Given the description of an element on the screen output the (x, y) to click on. 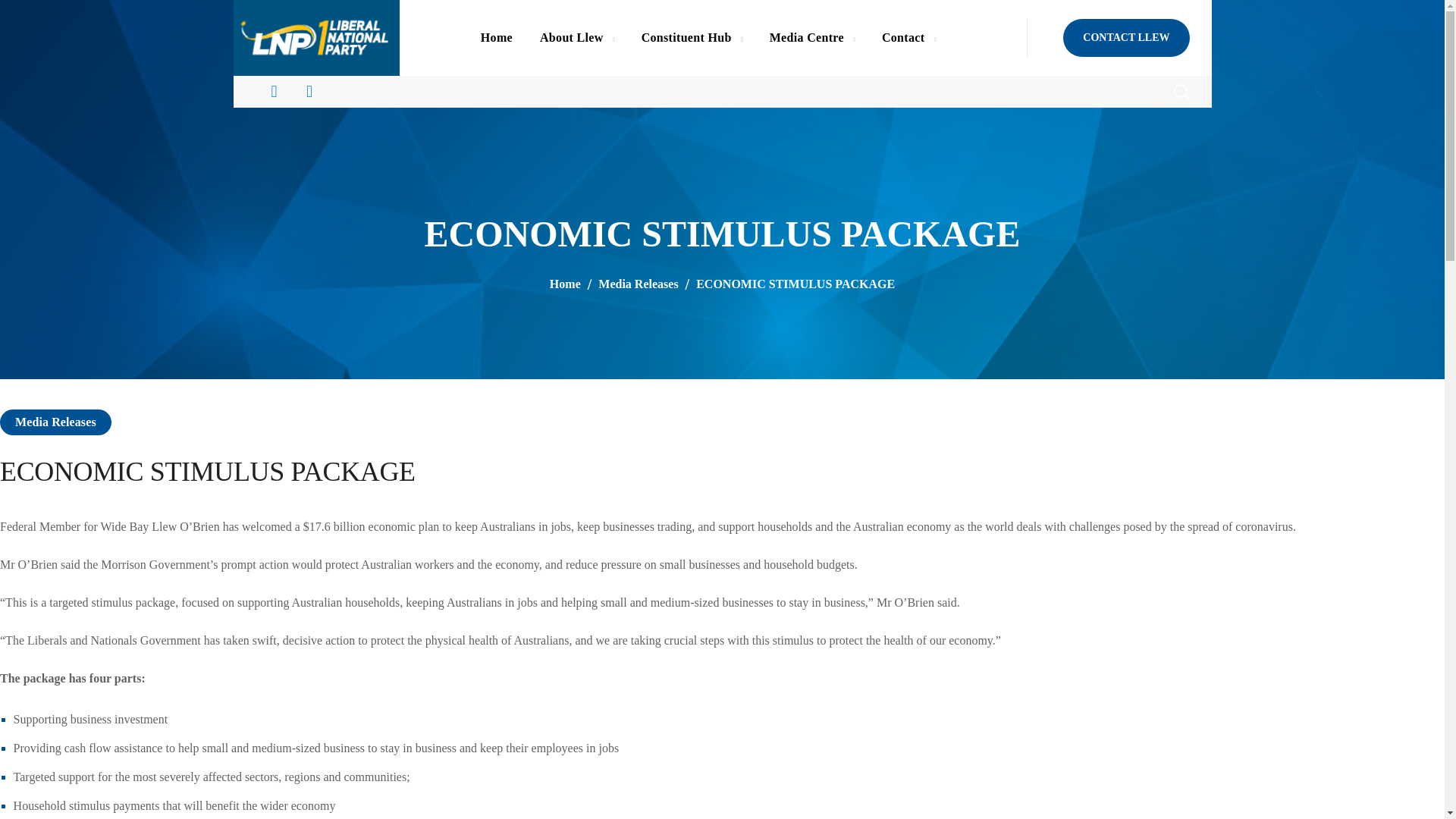
Contact (908, 38)
Search (1141, 137)
Media Centre (811, 38)
CONTACT LLEW (1125, 37)
Constituent Hub (691, 38)
About Llew (576, 38)
